Given the description of an element on the screen output the (x, y) to click on. 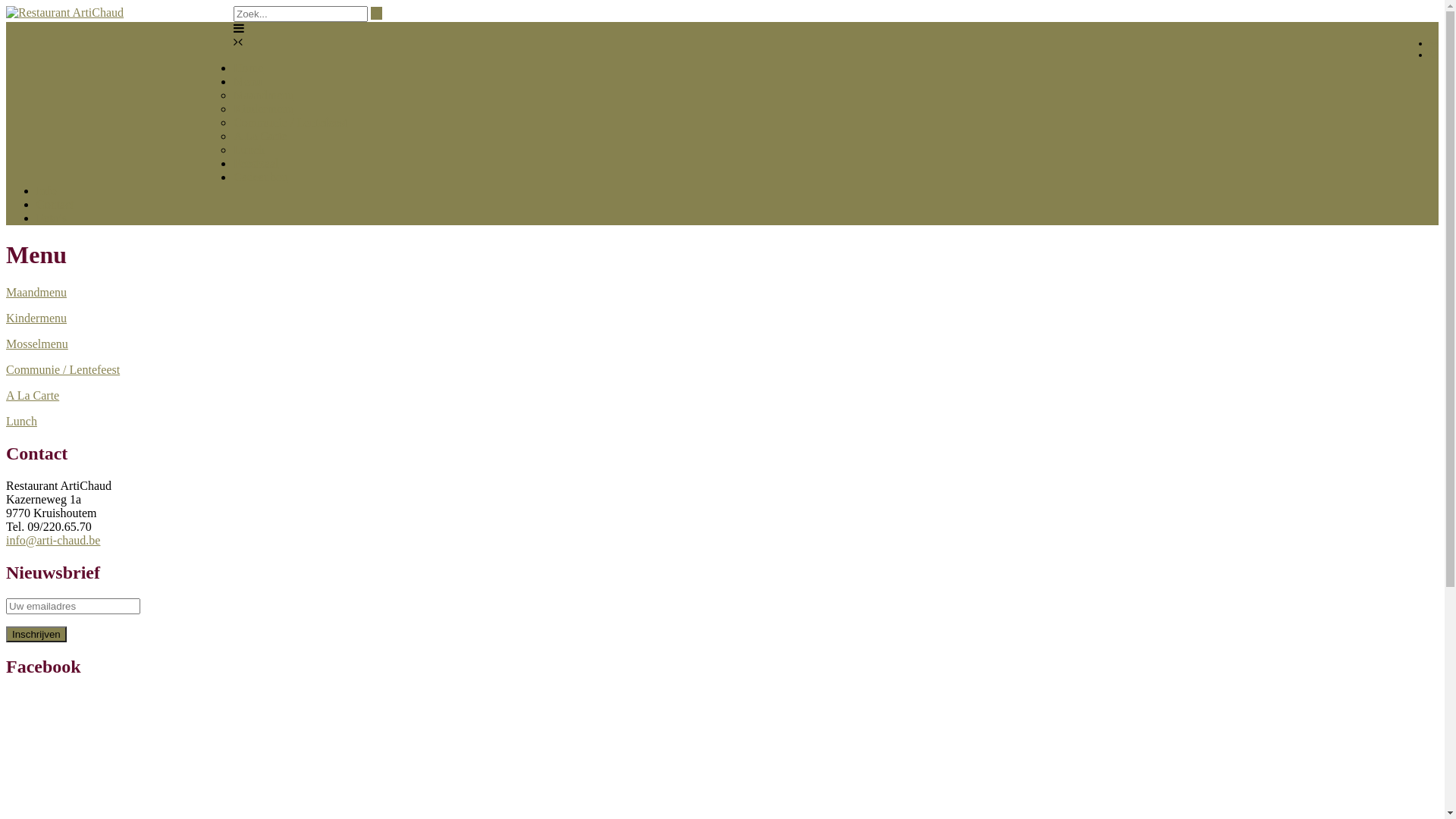
Communie / Lentefeest Element type: text (62, 369)
Info Element type: text (46, 190)
A La Carte Element type: text (259, 135)
Kindermenu Element type: text (36, 317)
Maandmenu Element type: text (36, 291)
Lunch Element type: text (248, 149)
Home Element type: text (248, 67)
Communie / Lentefeest Element type: text (290, 122)
Mosselmenu Element type: text (37, 343)
Lunch Element type: text (21, 420)
Cadeaubon Element type: text (260, 176)
Contact Element type: text (55, 203)
Feestzaal Element type: text (256, 162)
Kindermenu Element type: text (263, 108)
Stuur ons een e-mail Element type: hover (1433, 42)
Inschrijven Element type: text (36, 634)
Menu Element type: text (247, 81)
Maandmenu Element type: text (263, 94)
Zoek naar: Element type: hover (300, 13)
A La Carte Element type: text (32, 395)
info@arti-chaud.be Element type: text (53, 539)
Doorgaan naar inhoud Element type: text (5, 5)
